Given the description of an element on the screen output the (x, y) to click on. 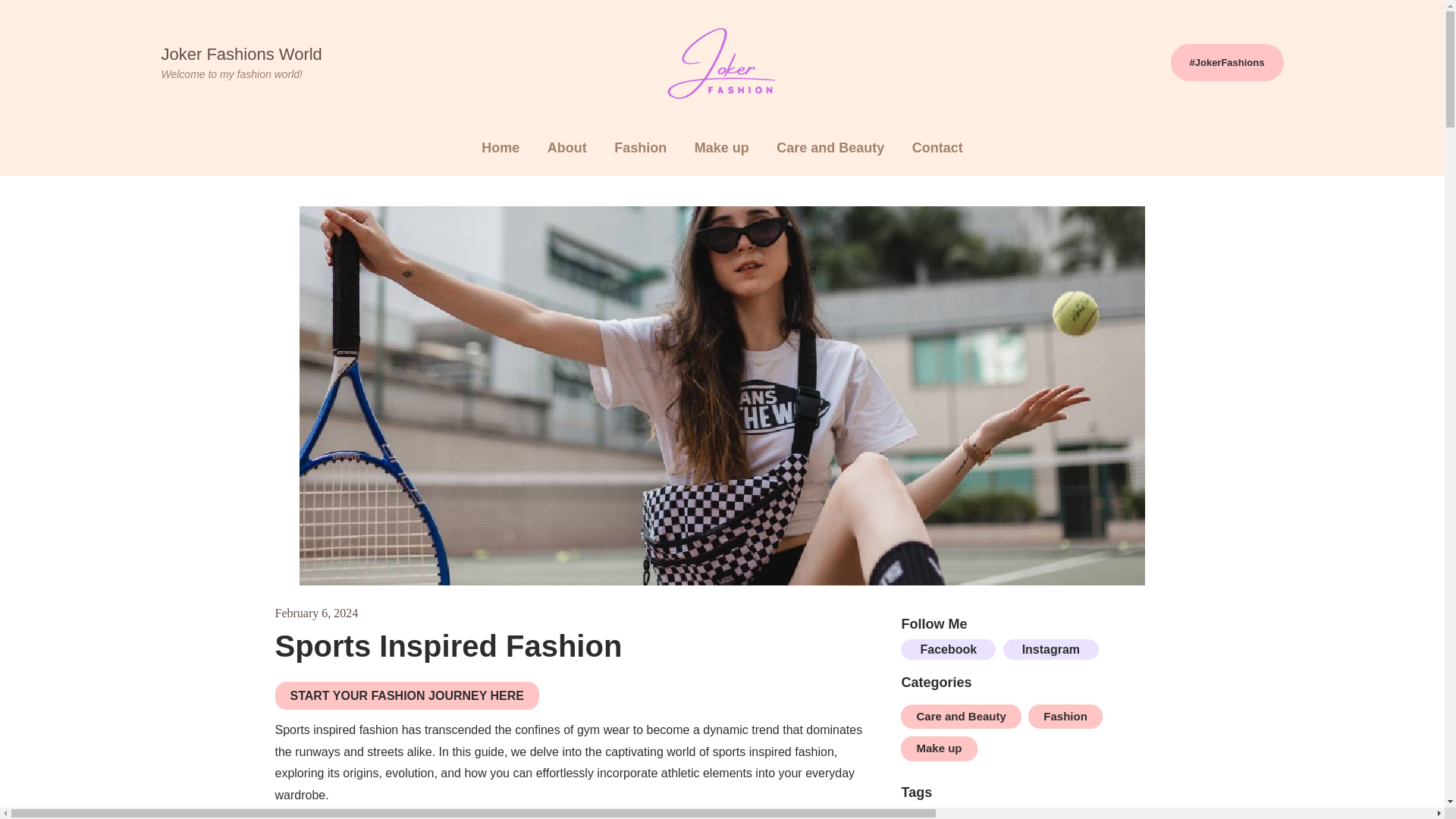
About (566, 148)
February 6, 2024 (316, 612)
Care and Beauty (960, 716)
Home (499, 148)
Instagram (1051, 649)
Fashion (1064, 716)
Aloe vera (941, 814)
Beautiful (1029, 814)
Care and Beauty (830, 148)
START YOUR FASHION JOURNEY HERE (406, 695)
Facebook (948, 649)
Make up (938, 748)
Make up (721, 148)
Contact (937, 148)
beauty (1108, 814)
